Given the description of an element on the screen output the (x, y) to click on. 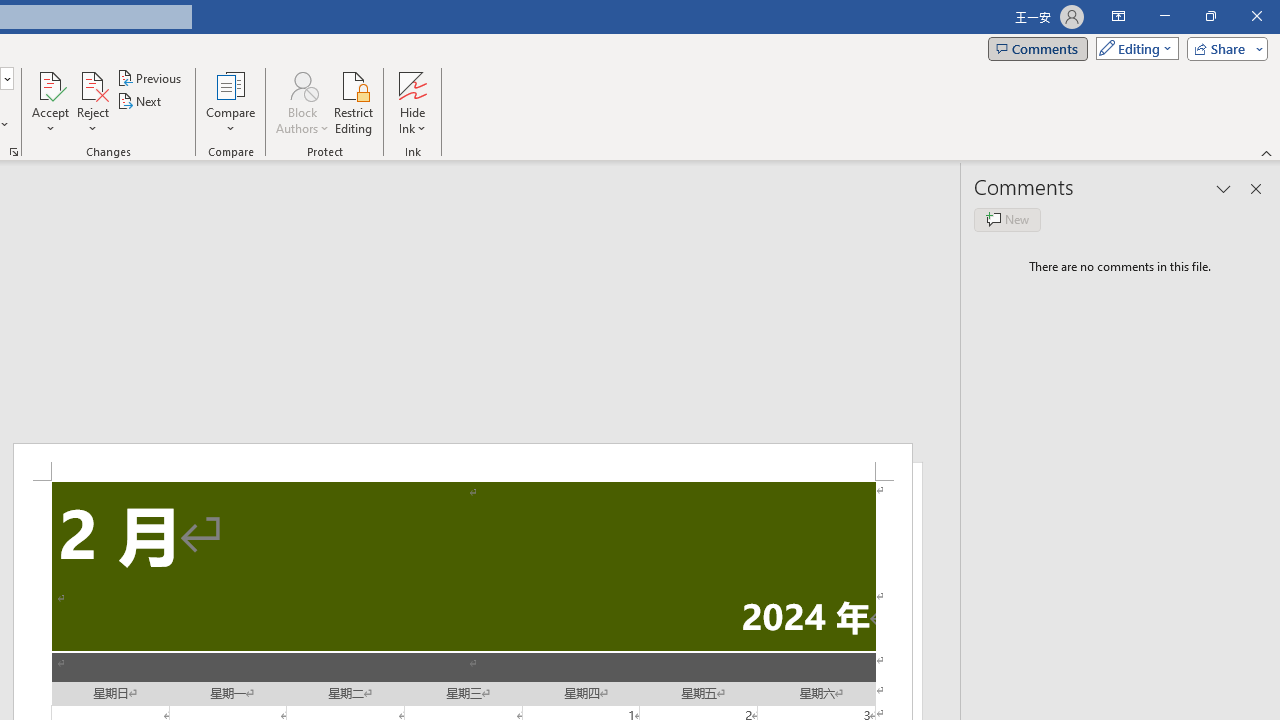
Reject and Move to Next (92, 84)
New comment (1007, 219)
Hide Ink (412, 84)
Change Tracking Options... (13, 151)
Accept and Move to Next (50, 84)
Restrict Editing (353, 102)
Hide Ink (412, 102)
Block Authors (302, 84)
Compare (230, 102)
Accept (50, 102)
